Given the description of an element on the screen output the (x, y) to click on. 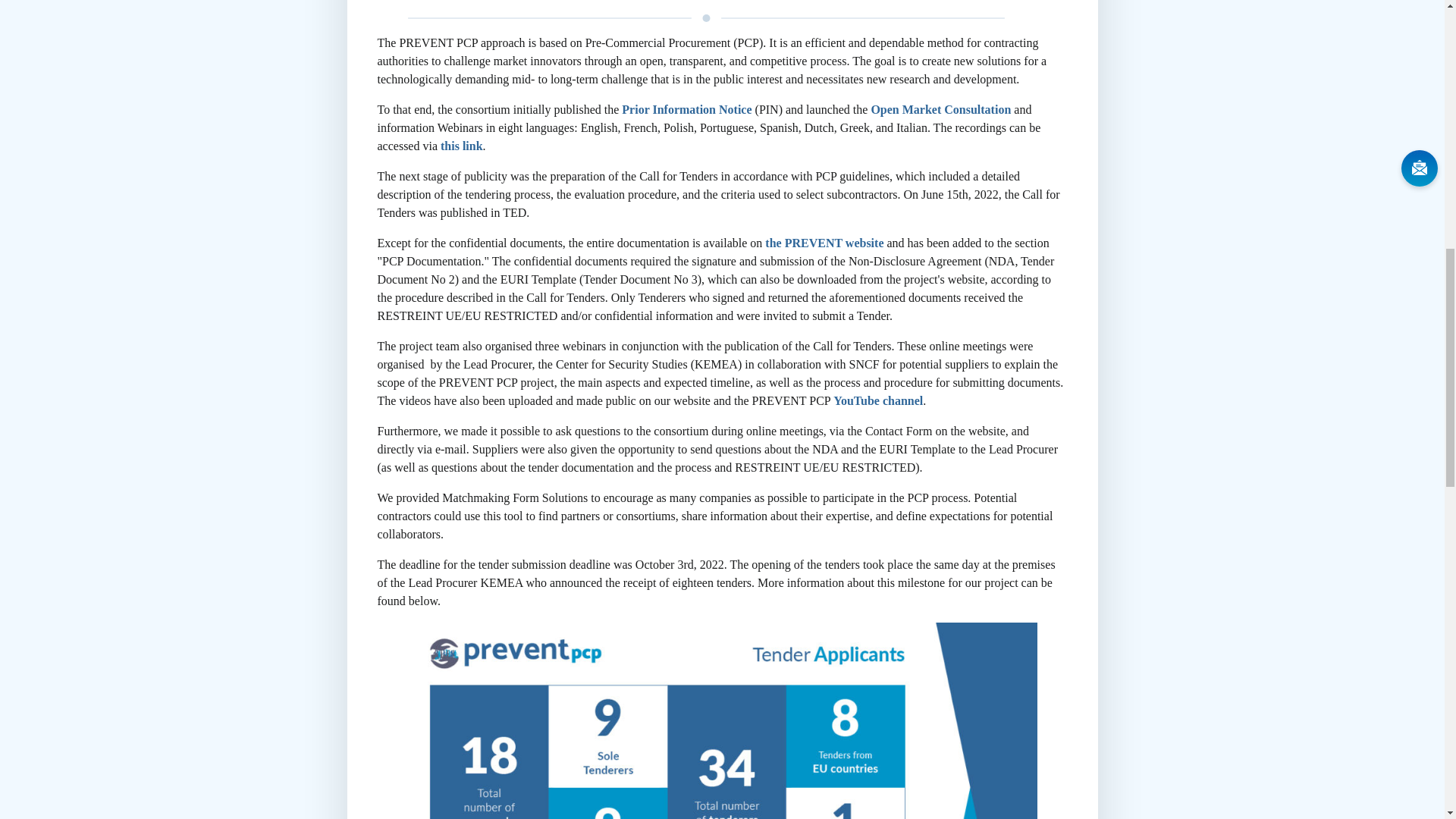
YouTube channel (877, 400)
Open Market Consultation (940, 109)
Prior Information Notice (686, 109)
the PREVENT website (824, 242)
this link (462, 145)
